Given the description of an element on the screen output the (x, y) to click on. 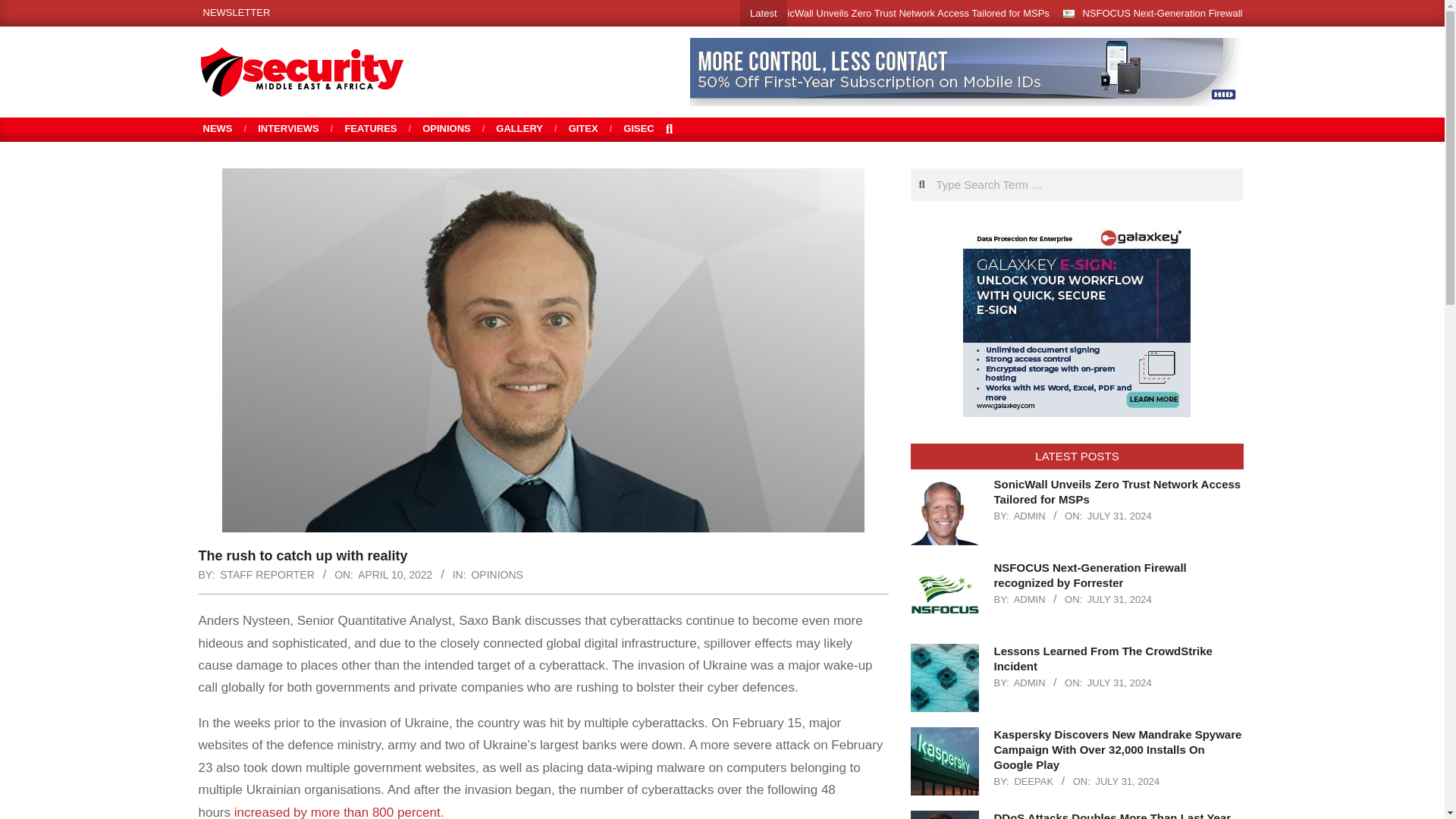
Wednesday, July 31, 2024, 4:34 pm (1119, 515)
NEWSLETTER (236, 12)
Wednesday, July 31, 2024, 4:12 pm (1119, 599)
Posts by Staff Reporter (266, 574)
Posts by Deepak (1032, 781)
NSFOCUS Next-Generation Firewall recognized by Forrester (1215, 12)
Wednesday, July 31, 2024, 3:05 pm (1126, 781)
Posts by admin (1029, 682)
Sunday, April 10, 2022, 12:31 pm (395, 574)
Posts by admin (1029, 515)
Wednesday, July 31, 2024, 3:47 pm (1119, 682)
Posts by admin (1029, 599)
